Given the description of an element on the screen output the (x, y) to click on. 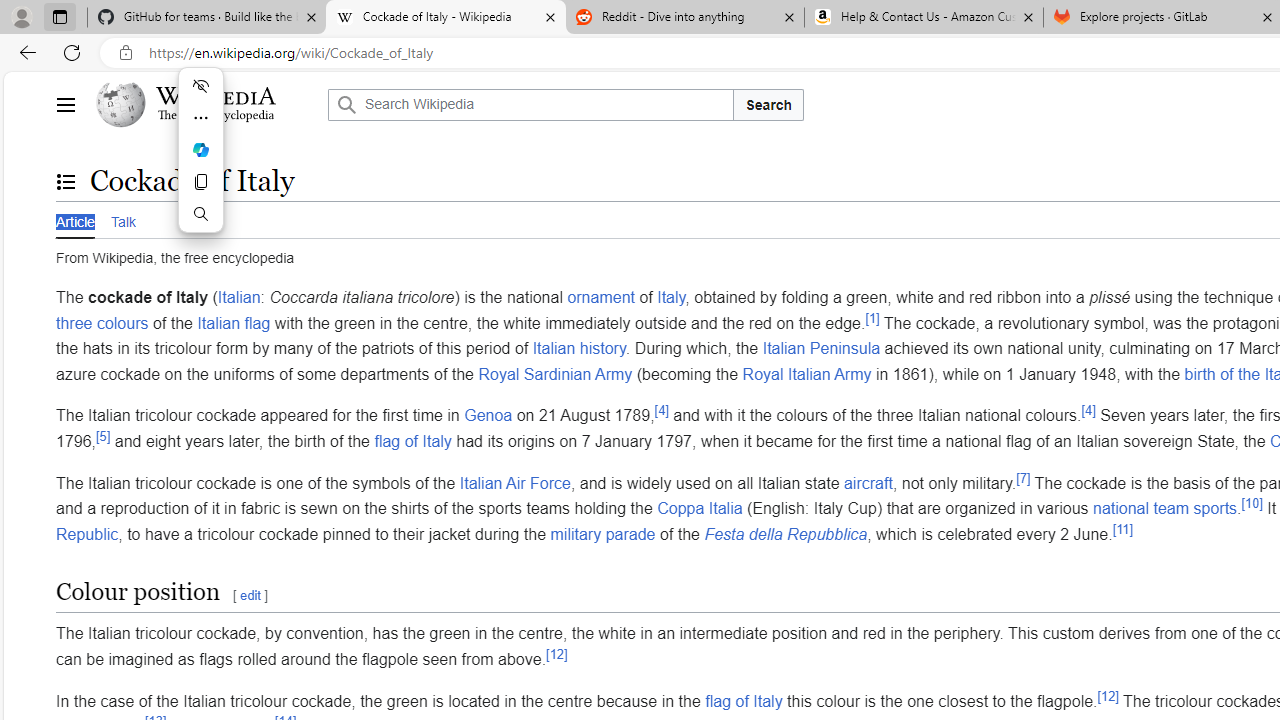
Royal Italian Army (806, 374)
[12] (1107, 696)
[1] (872, 318)
Italian (239, 297)
edit (250, 596)
Italian Peninsula (820, 348)
Wikipedia (216, 96)
[5] (103, 435)
Coppa Italia (699, 508)
Mini menu on text selection (200, 149)
Wikipedia The Free Encyclopedia (206, 104)
Italian history (578, 348)
